Given the description of an element on the screen output the (x, y) to click on. 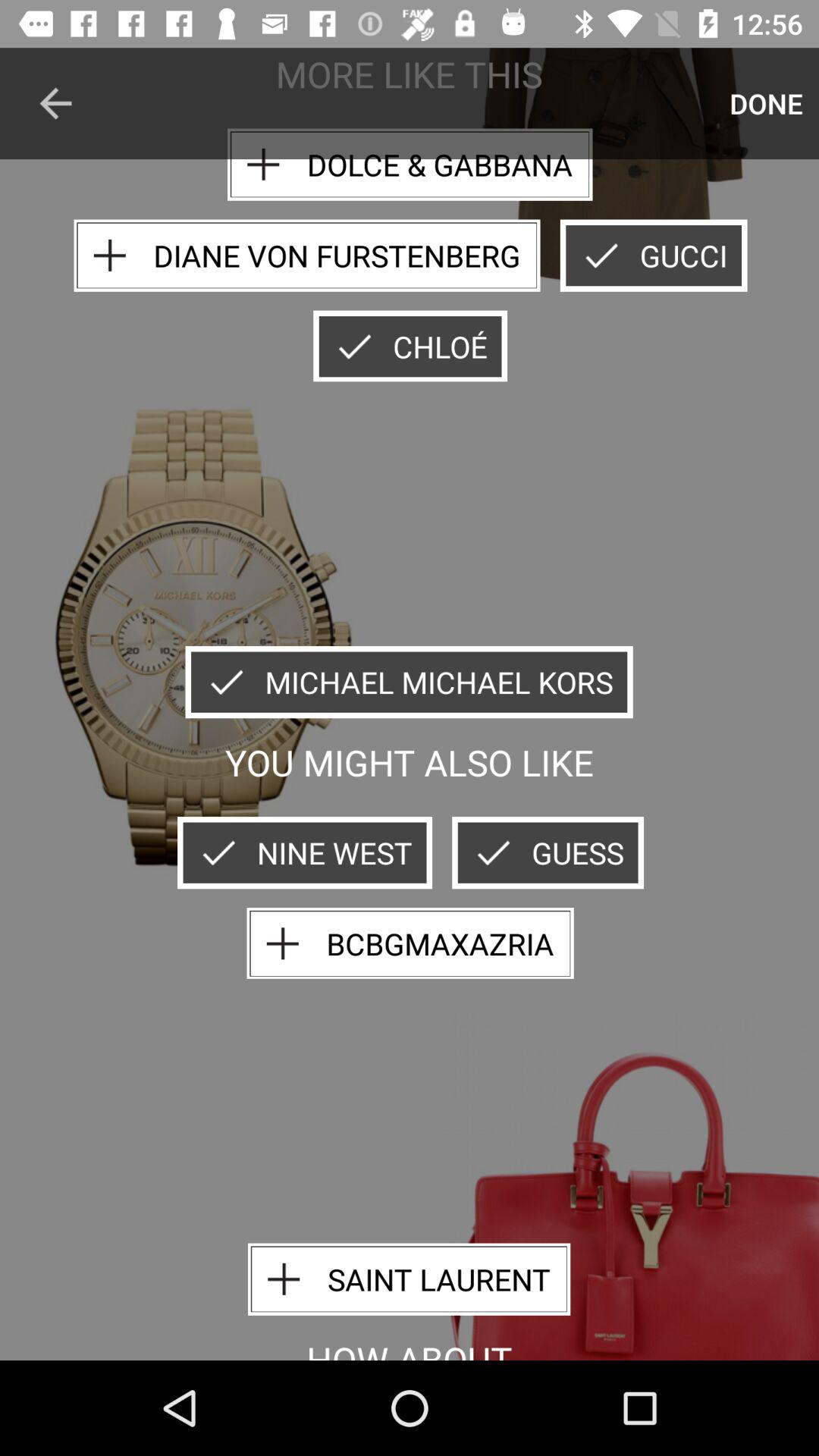
click icon above diane von furstenberg (409, 164)
